Given the description of an element on the screen output the (x, y) to click on. 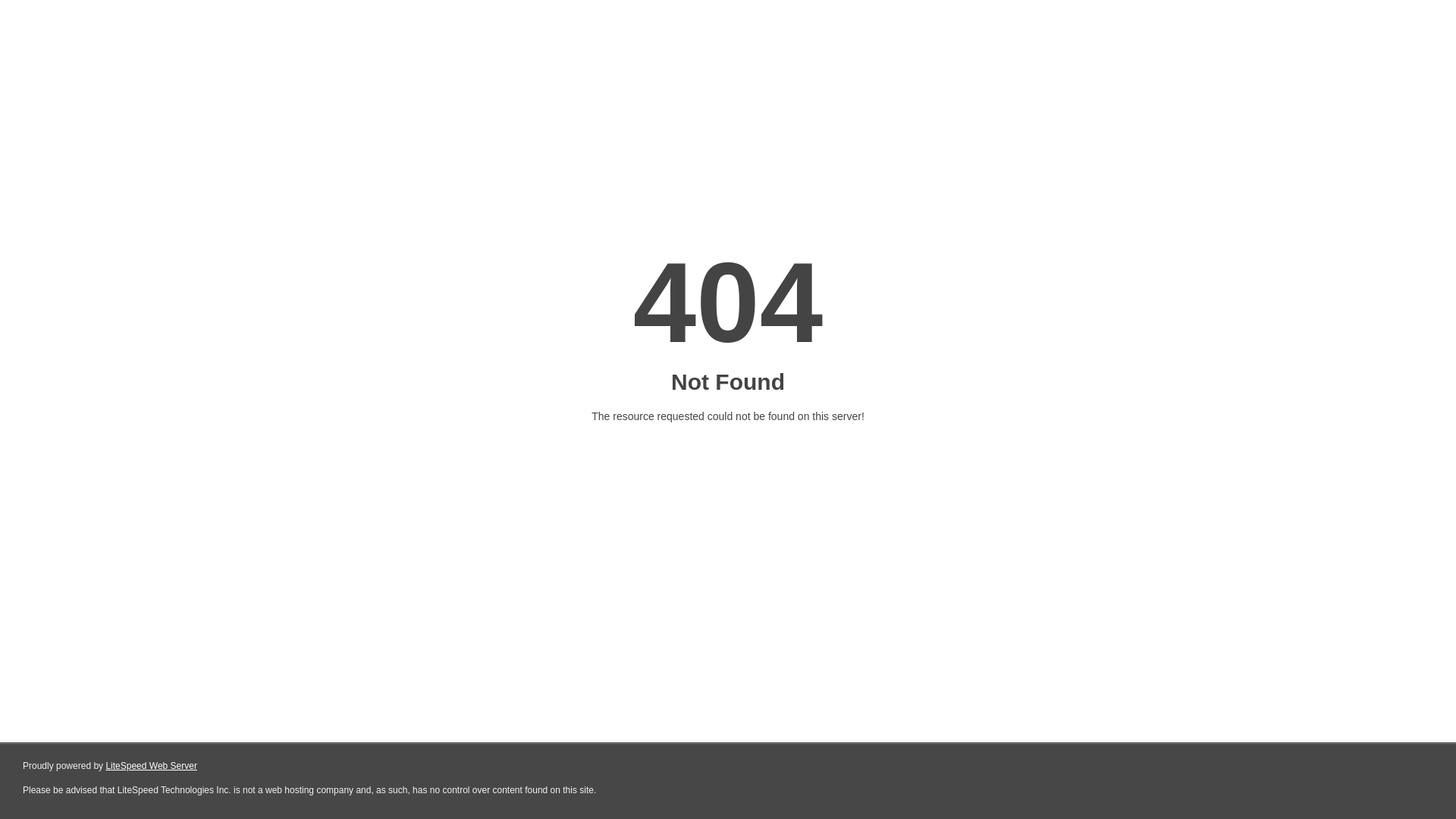
LiteSpeed Web Server Element type: text (151, 765)
